Given the description of an element on the screen output the (x, y) to click on. 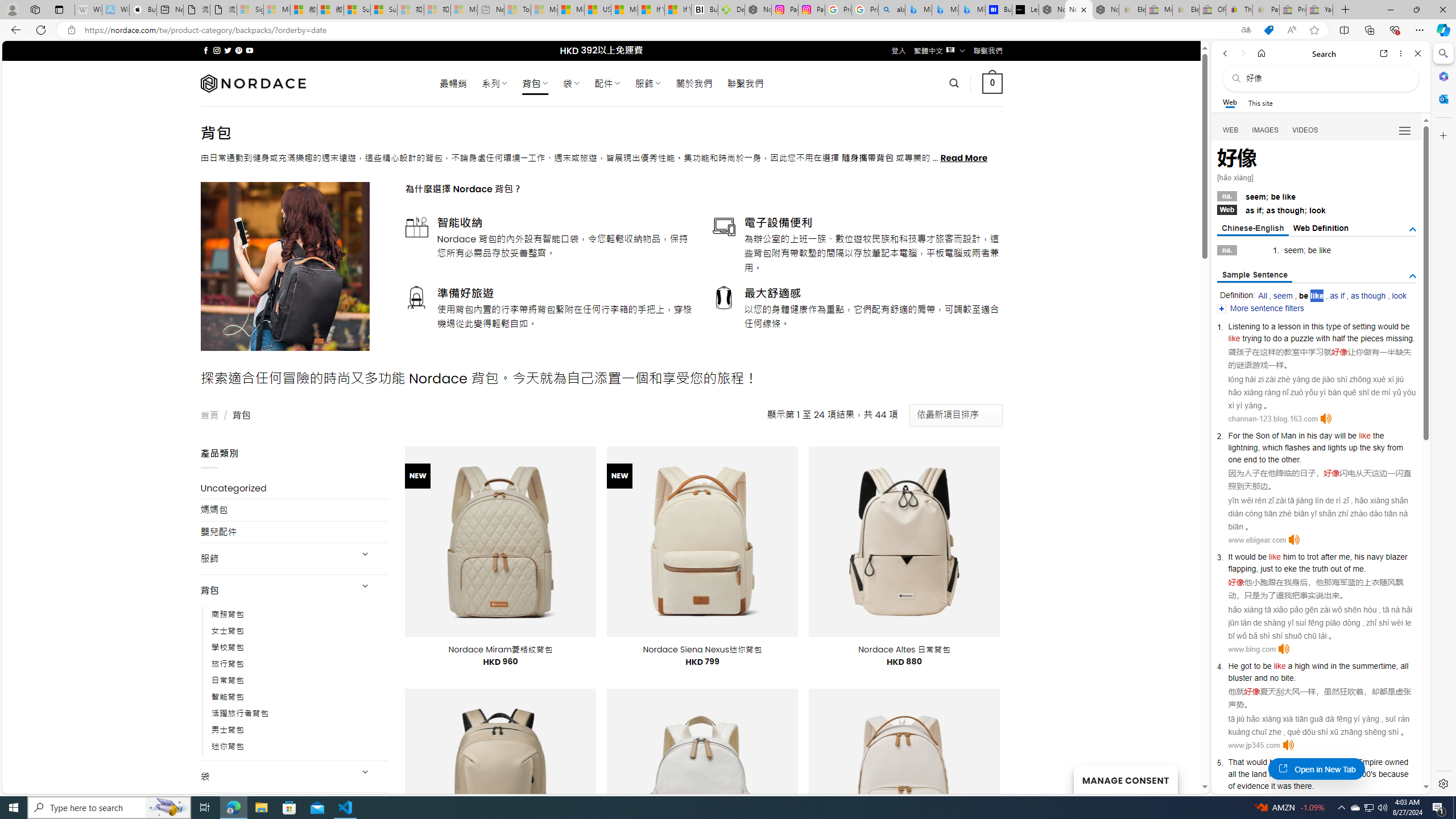
as if (1337, 295)
after (1328, 556)
truth (1319, 568)
Uncategorized (294, 488)
his (1312, 435)
other (1290, 459)
www.bing.com (1251, 649)
